Given the description of an element on the screen output the (x, y) to click on. 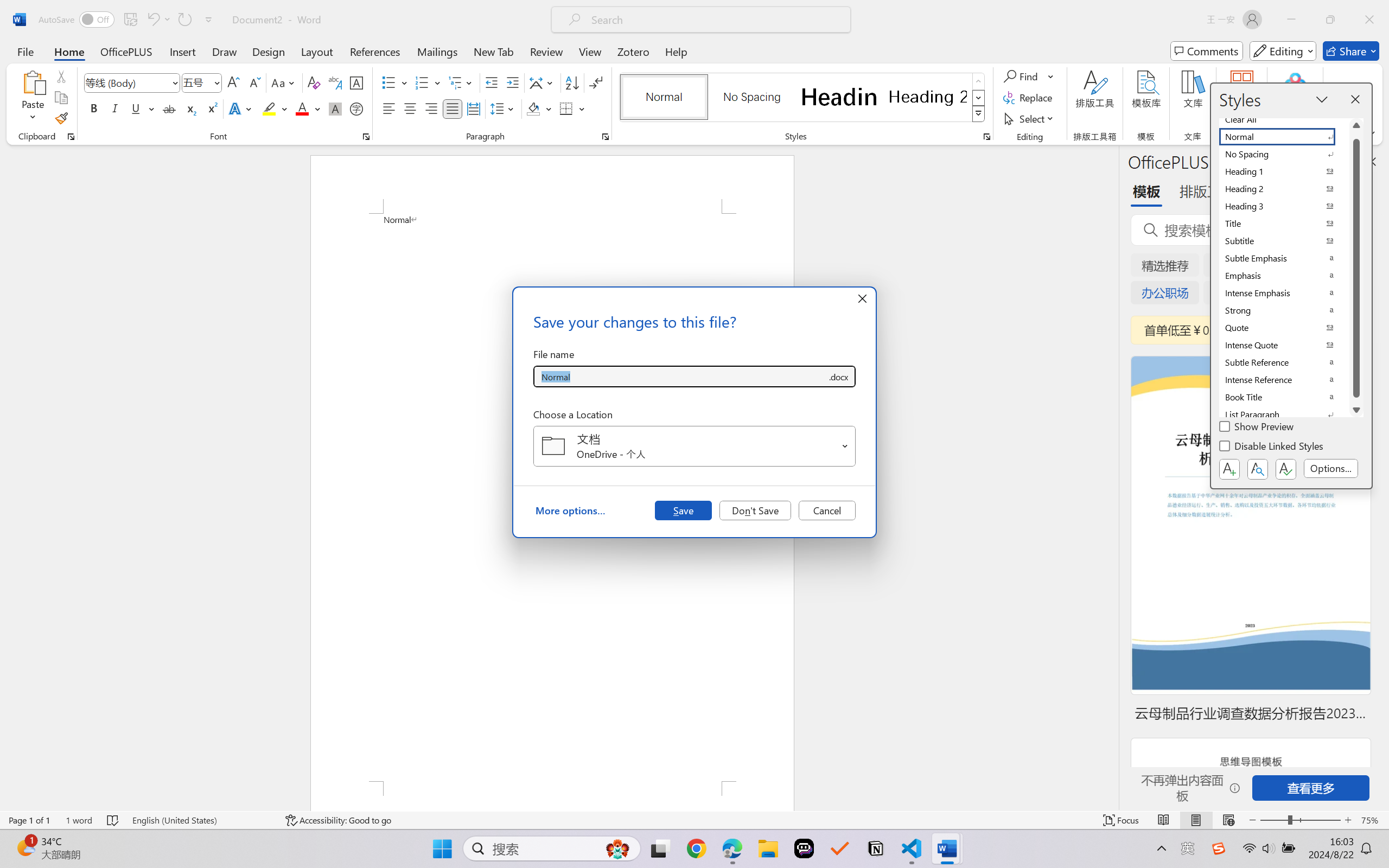
Superscript (210, 108)
Show/Hide Editing Marks (595, 82)
Increase Indent (512, 82)
Clear Formatting (313, 82)
Enclose Characters... (356, 108)
Intense Emphasis (1283, 293)
Paste (33, 81)
Spelling and Grammar Check No Errors (113, 819)
Review (546, 51)
Mode (1283, 50)
Character Shading (334, 108)
Cancel (826, 509)
Character Border (356, 82)
Insert (182, 51)
